Given the description of an element on the screen output the (x, y) to click on. 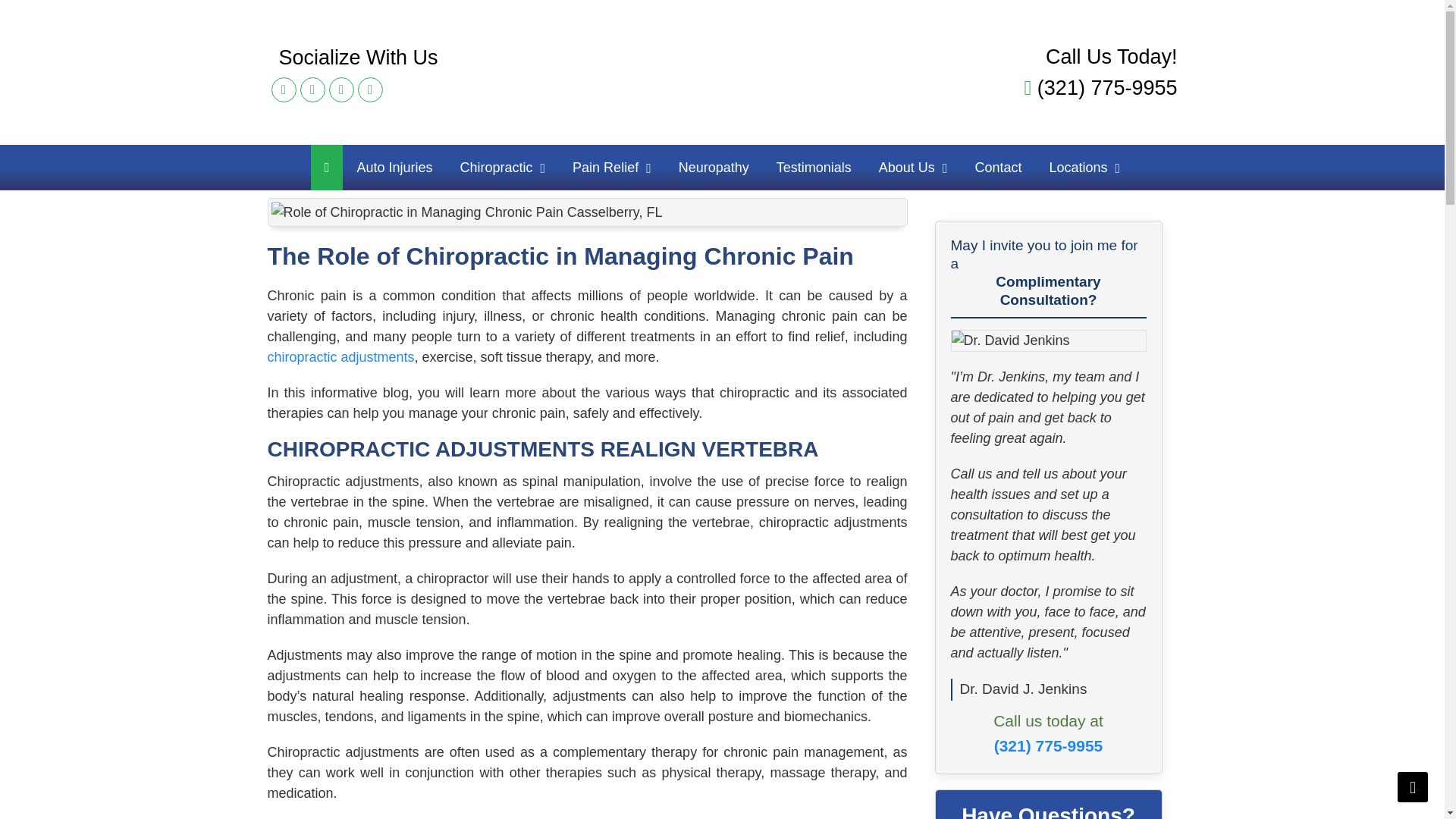
Chiropractic (502, 167)
Home (722, 65)
Contact (997, 167)
Google My Business (370, 89)
Locations (1084, 167)
Neuropathy (713, 167)
Back to the Top (1412, 787)
TikTok (341, 89)
About Us (912, 167)
Facebook (283, 89)
